Given the description of an element on the screen output the (x, y) to click on. 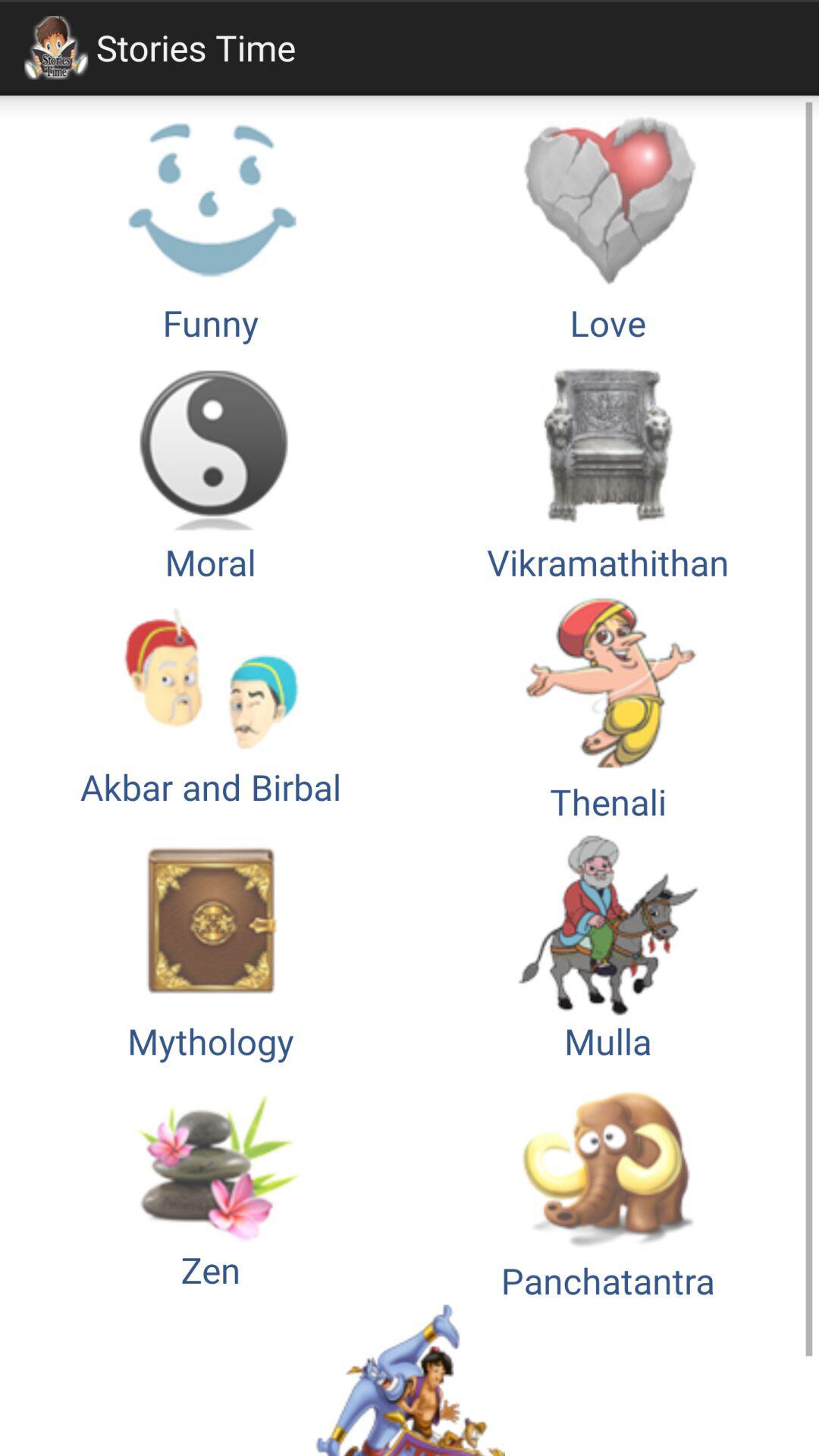
turn on the funny icon (210, 226)
